Given the description of an element on the screen output the (x, y) to click on. 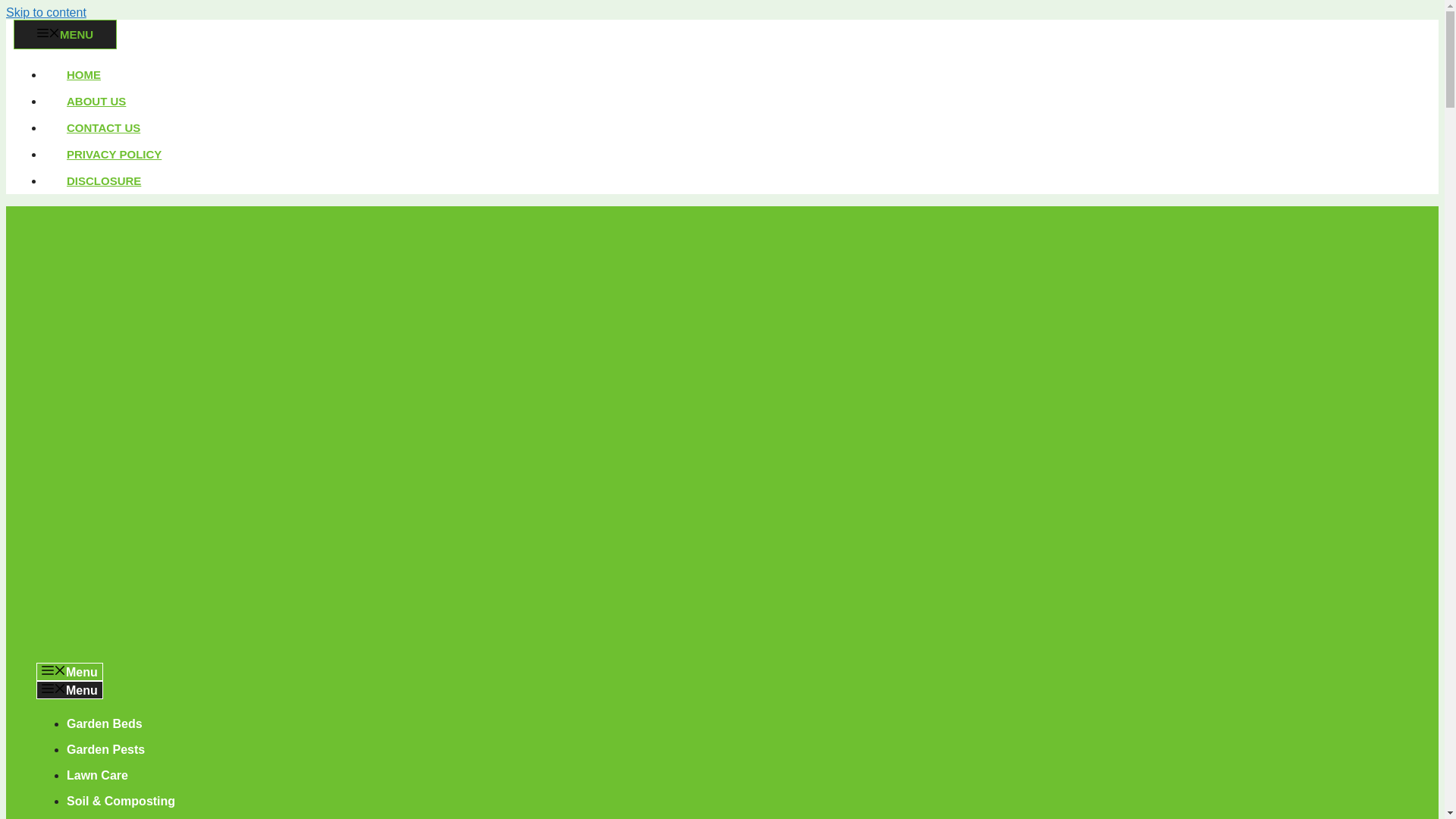
CONTACT US (103, 127)
DISCLOSURE (103, 180)
Menu (69, 689)
MENU (64, 34)
Menu (69, 671)
HOME (83, 74)
PRIVACY POLICY (113, 154)
ABOUT US (95, 101)
Garden Beds (104, 723)
Skip to content (45, 11)
